Given the description of an element on the screen output the (x, y) to click on. 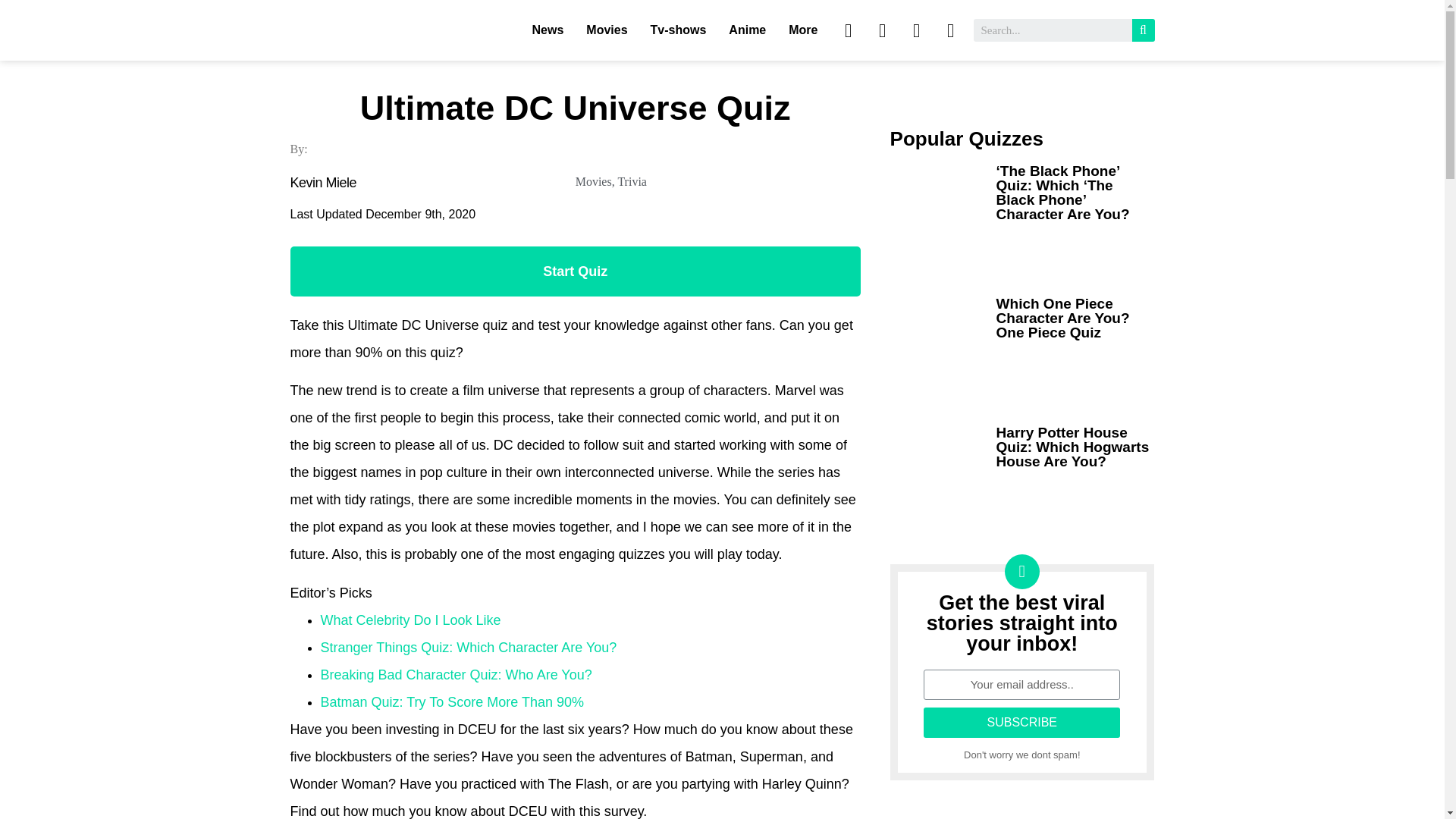
More (802, 29)
Kevin Miele (432, 183)
Movies (593, 181)
Tv-shows (678, 29)
Search (1053, 29)
What Celebrity Do I Look Like (410, 620)
Start Quiz (574, 271)
Anime (747, 29)
Trivia (631, 181)
News (548, 29)
Movies (606, 29)
Search (1142, 29)
